Given the description of an element on the screen output the (x, y) to click on. 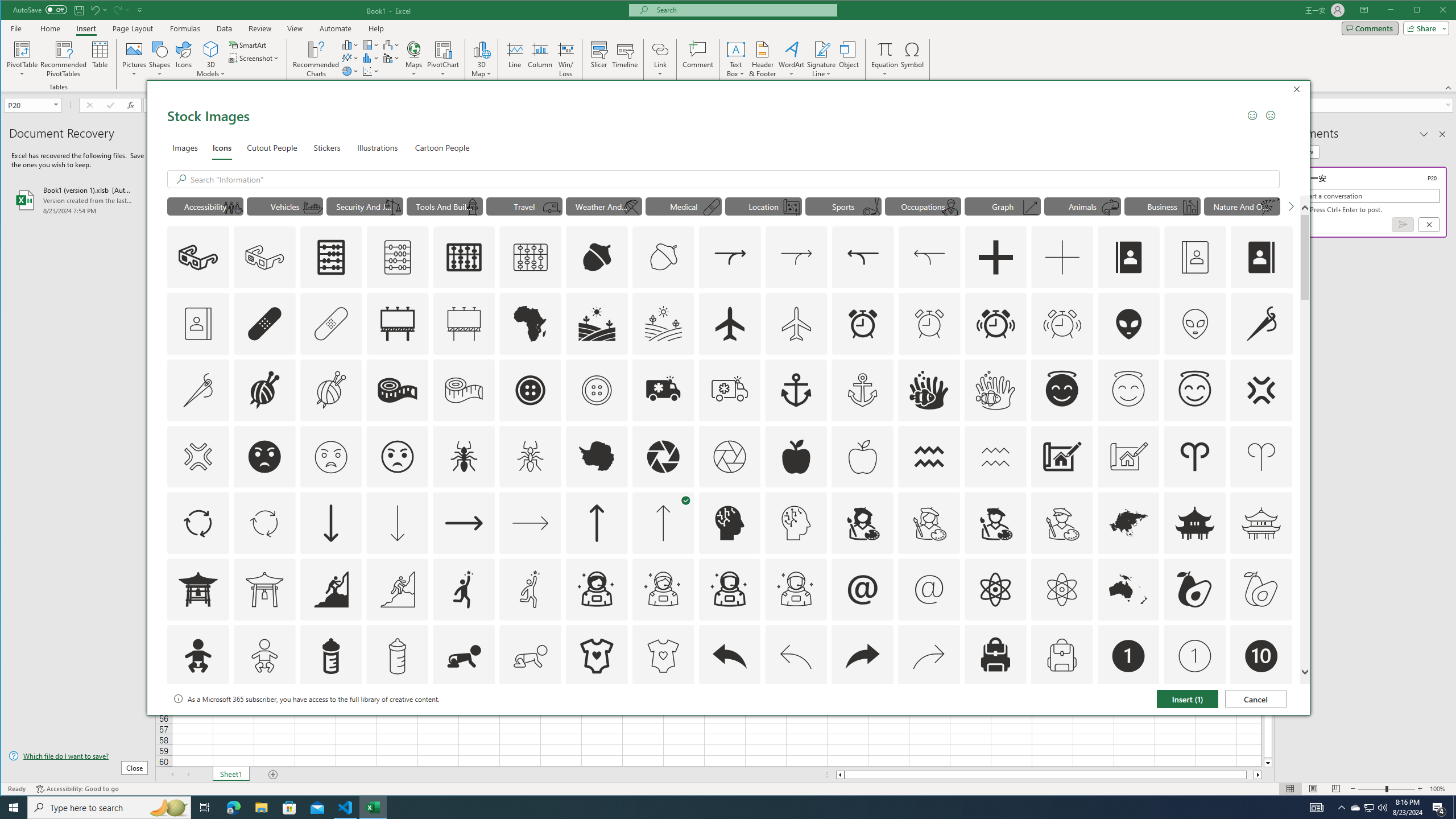
AutomationID: Icons_AstronautMale_M (796, 589)
Signature Line (821, 48)
"Weather And Seasons" Icons. (604, 206)
Insert Hierarchy Chart (371, 44)
AutomationID: Icons_AsianTemple1_M (264, 589)
Type here to search (108, 807)
3D Map (481, 59)
Cancel (1255, 698)
AutomationID: Icons_Badge10 (1260, 655)
